Given the description of an element on the screen output the (x, y) to click on. 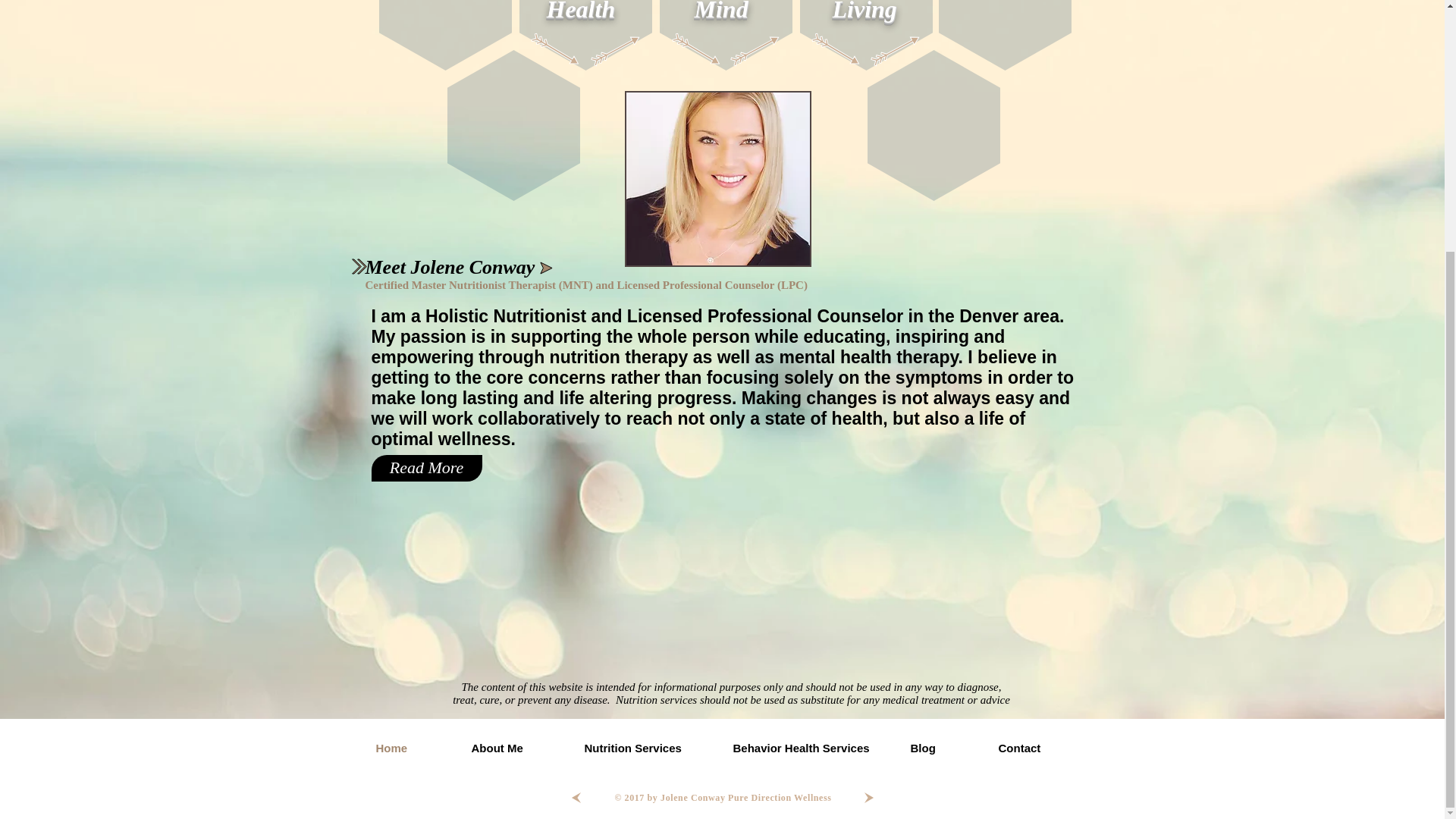
Read More (426, 468)
Behavior Health Services (813, 747)
Contact (1042, 747)
Nutrition Services (650, 747)
Blog (946, 747)
About Me (520, 747)
Home (416, 747)
